Given the description of an element on the screen output the (x, y) to click on. 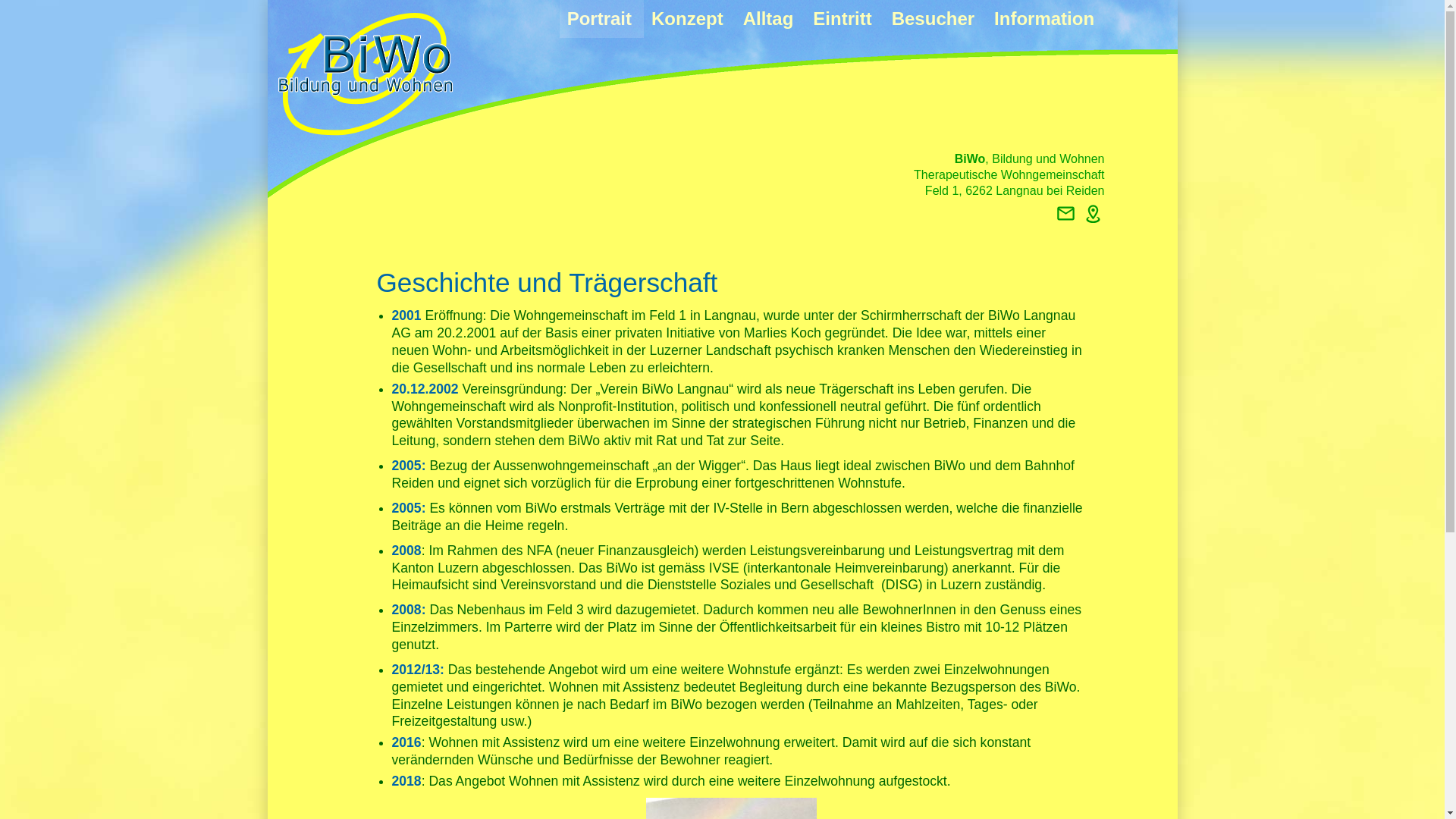
Alltag Element type: text (770, 18)
Anfahrt Element type: hover (1092, 213)
Portrait Element type: text (601, 18)
Eintritt Element type: text (844, 18)
Konzept Element type: text (689, 18)
Information Element type: text (1043, 18)
Besucher Element type: text (935, 18)
Kontakt Element type: hover (1065, 213)
